Given the description of an element on the screen output the (x, y) to click on. 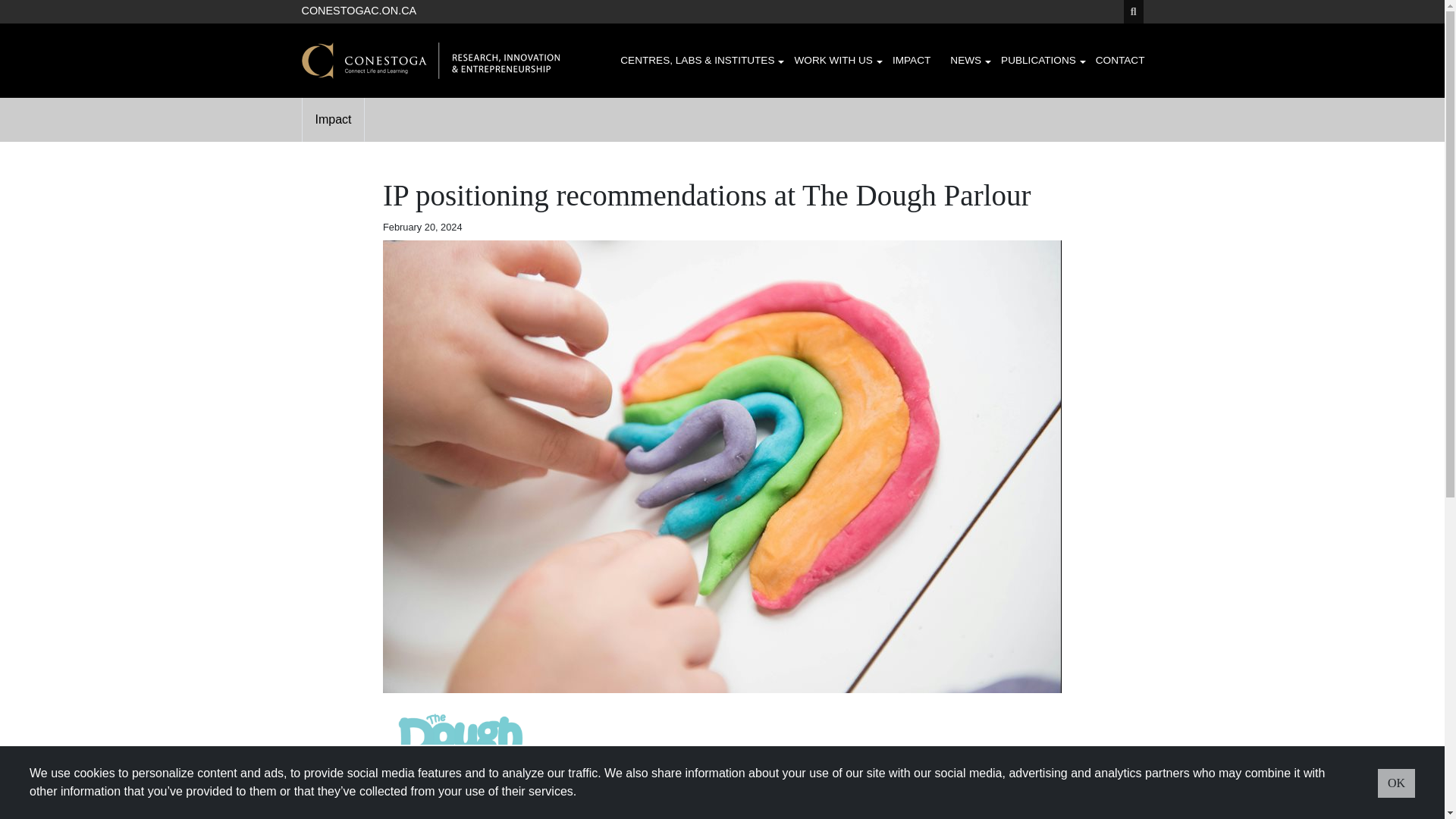
Back to conestogac.on.ca (358, 9)
CONESTOGAC.ON.CA (358, 9)
OK (1396, 783)
